Given the description of an element on the screen output the (x, y) to click on. 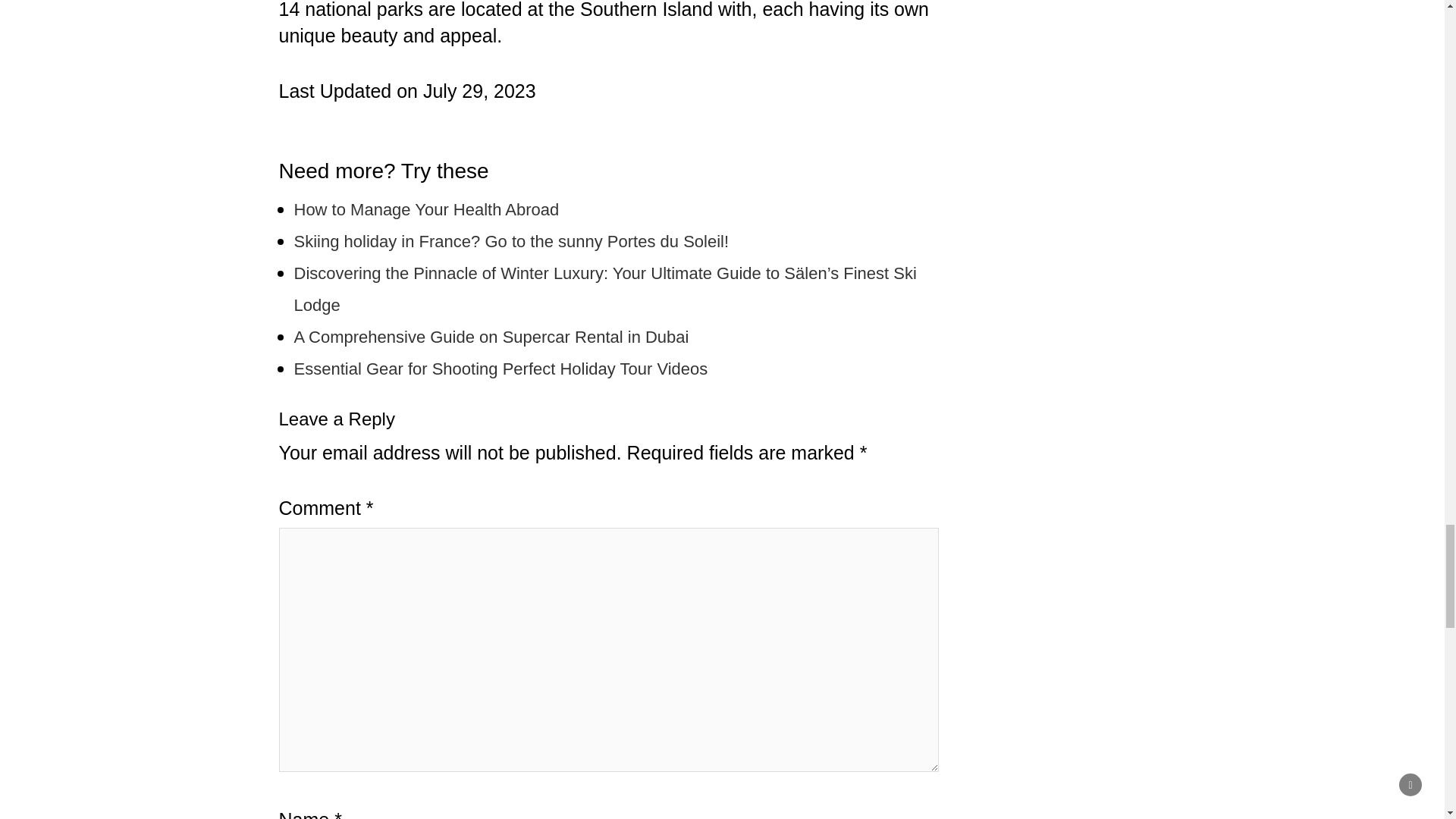
How to Manage Your Health Abroad (426, 209)
A Comprehensive Guide on Supercar Rental in Dubai (491, 336)
Essential Gear for Shooting Perfect Holiday Tour Videos (500, 368)
Skiing holiday in France? Go to the sunny Portes du Soleil! (511, 240)
